Given the description of an element on the screen output the (x, y) to click on. 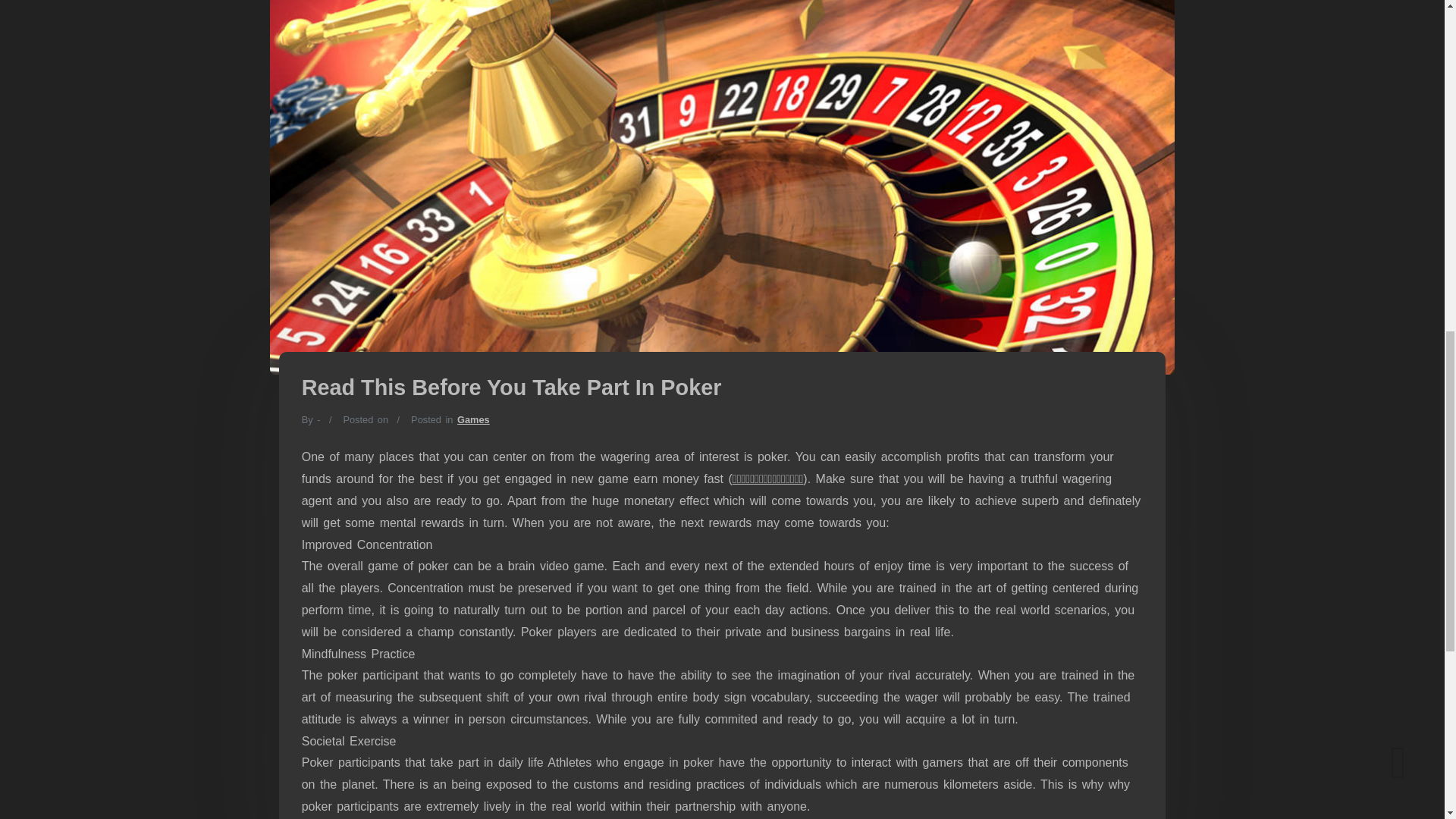
Games (473, 419)
